Given the description of an element on the screen output the (x, y) to click on. 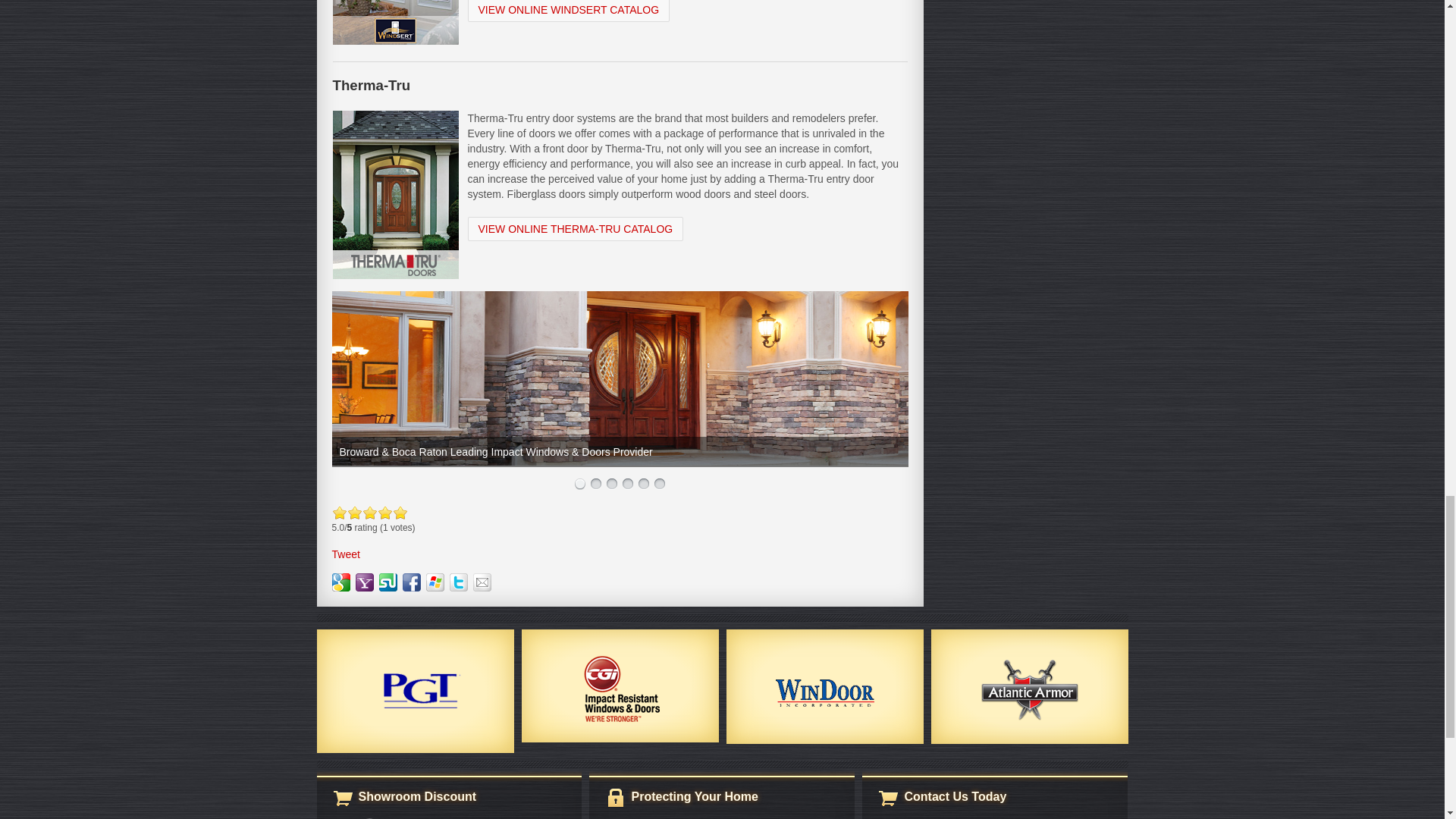
5 out of 5 (369, 512)
Tweet (345, 553)
View Online Therma-Tru Catalog (574, 228)
Add this Page to Stumbleupon (387, 582)
View Online Windsert Catalog (568, 11)
Add this Page to Yahoo (363, 582)
VIEW ONLINE THERMA-TRU CATALOG (574, 228)
Add this Page to Facebook (410, 582)
Add this Page to Twitter (457, 582)
4 out of 5 (362, 512)
